Given the description of an element on the screen output the (x, y) to click on. 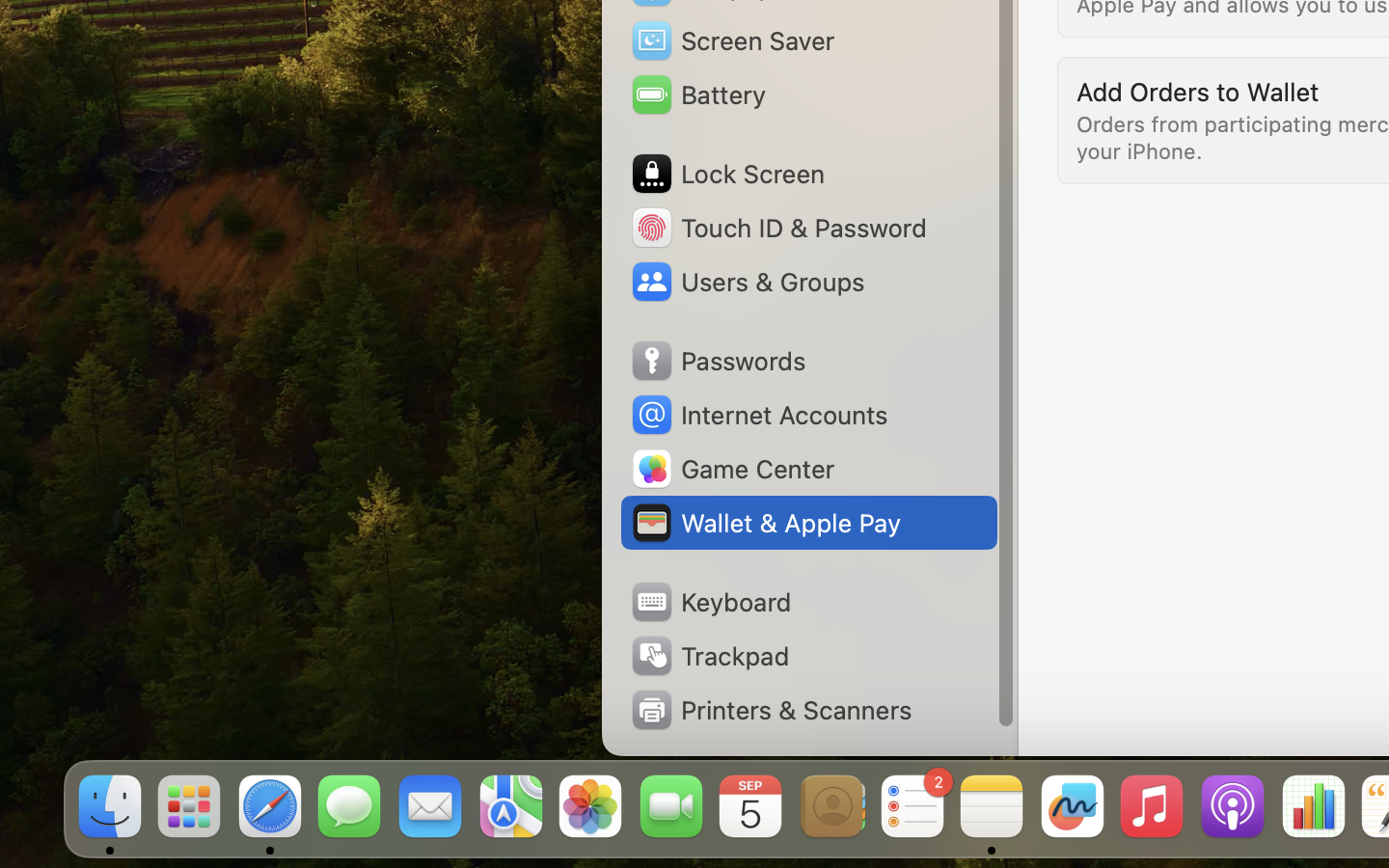
Battery Element type: AXStaticText (696, 94)
Lock Screen Element type: AXStaticText (726, 173)
Game Center Element type: AXStaticText (731, 468)
Users & Groups Element type: AXStaticText (746, 281)
Trackpad Element type: AXStaticText (708, 655)
